Given the description of an element on the screen output the (x, y) to click on. 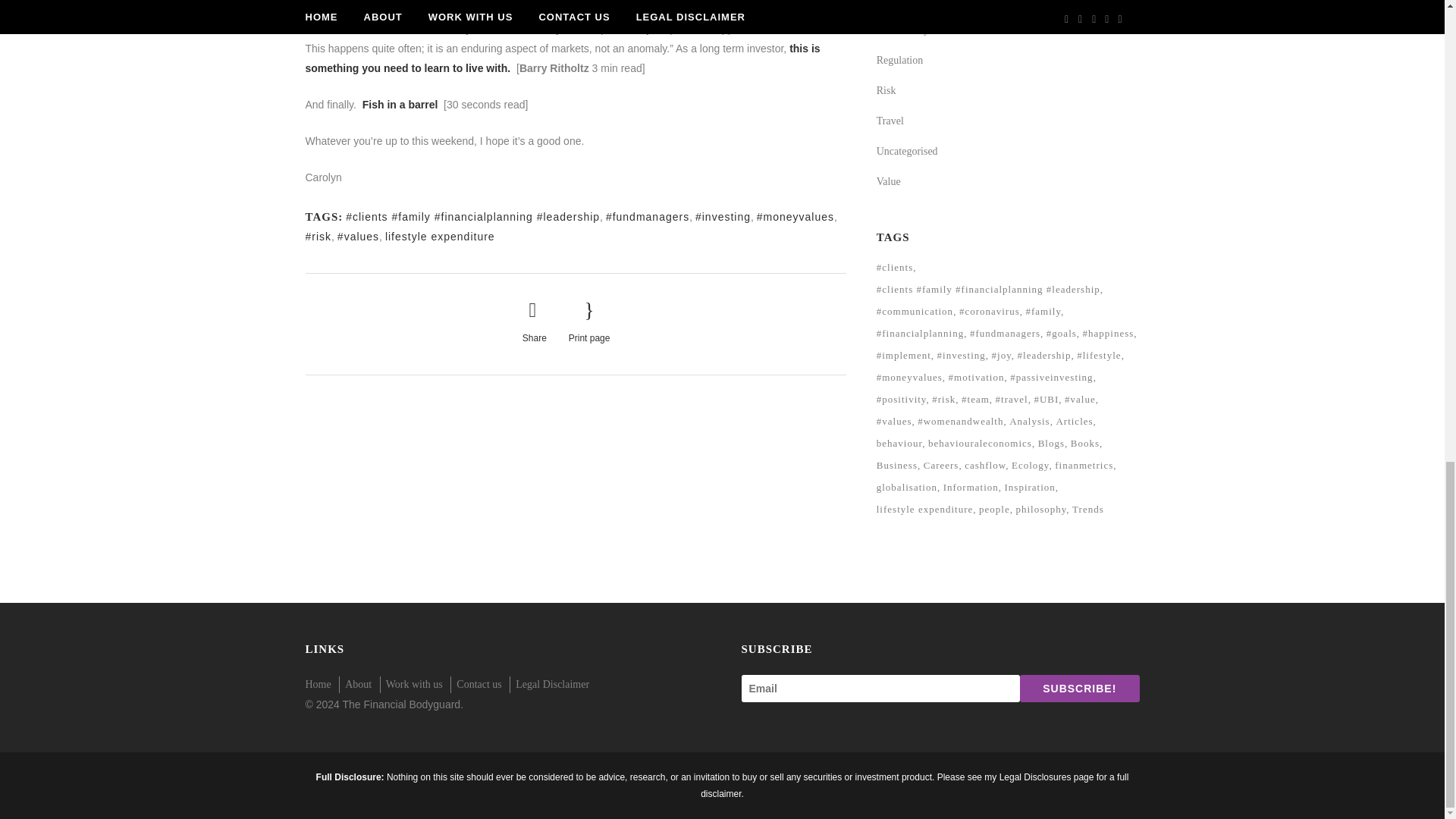
Fish in a barrel (401, 104)
this is something you need to learn to live with. (561, 58)
